Given the description of an element on the screen output the (x, y) to click on. 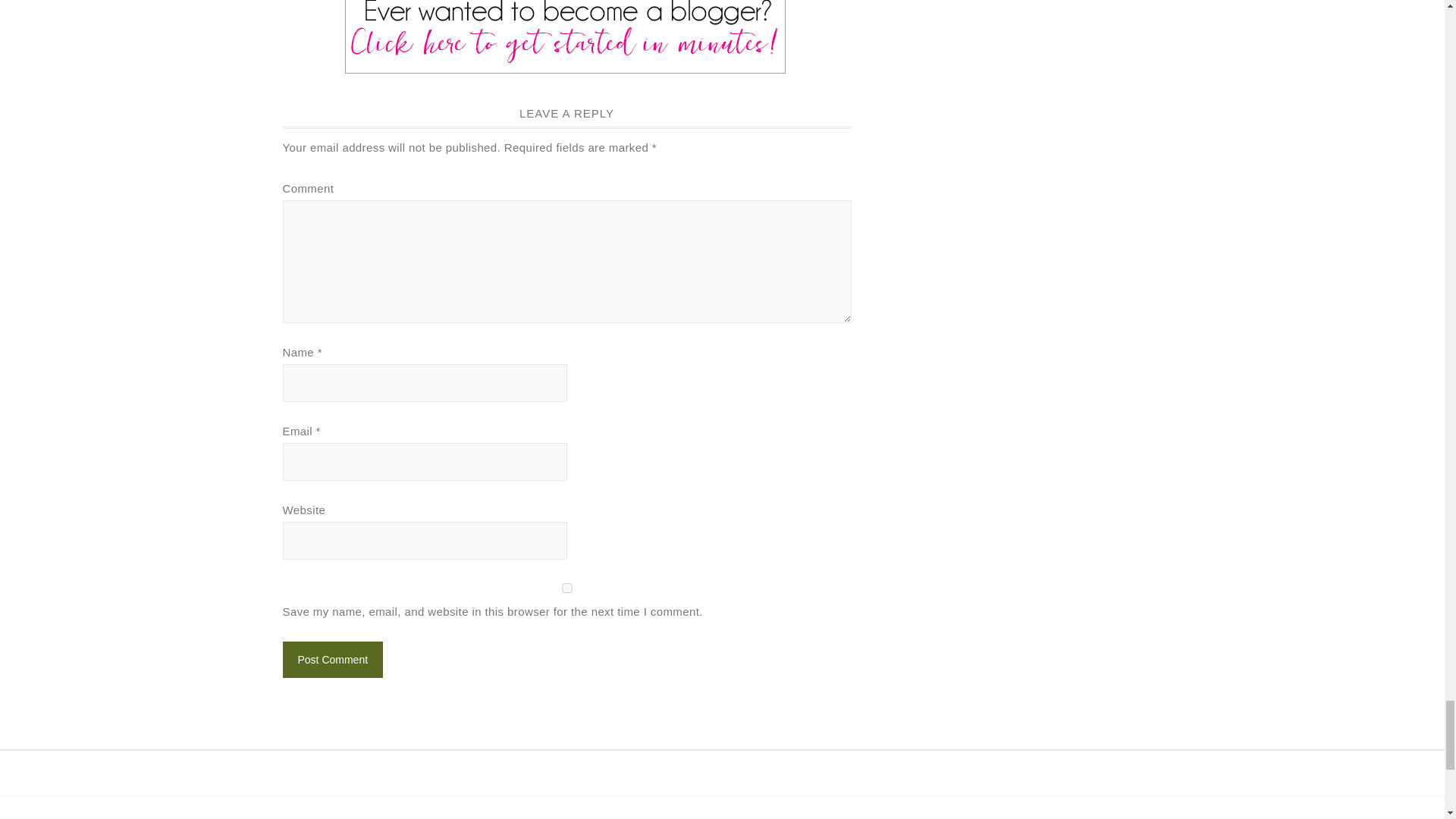
yes (566, 587)
Post Comment (332, 659)
